Given the description of an element on the screen output the (x, y) to click on. 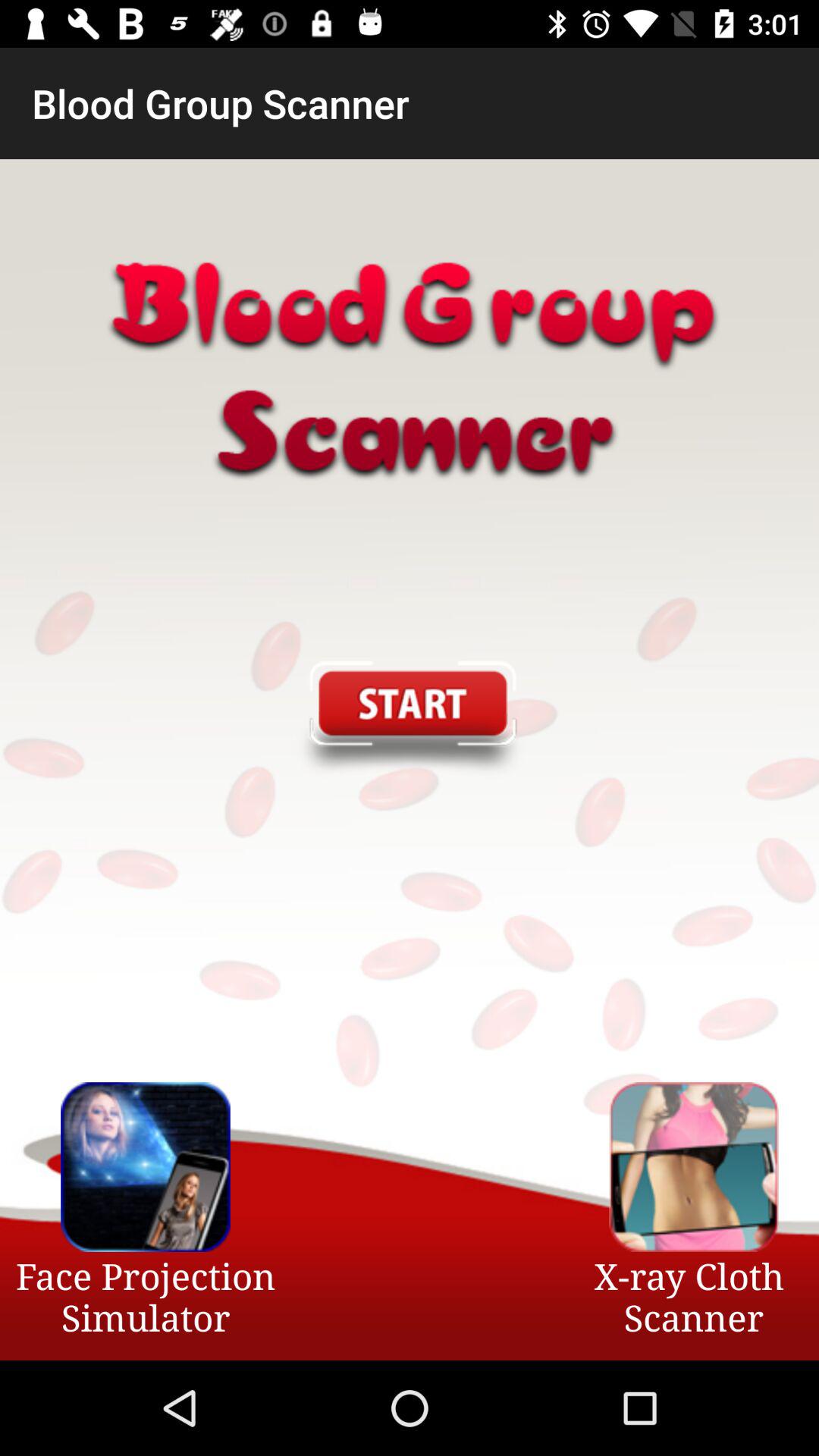
start the app (409, 719)
